Given the description of an element on the screen output the (x, y) to click on. 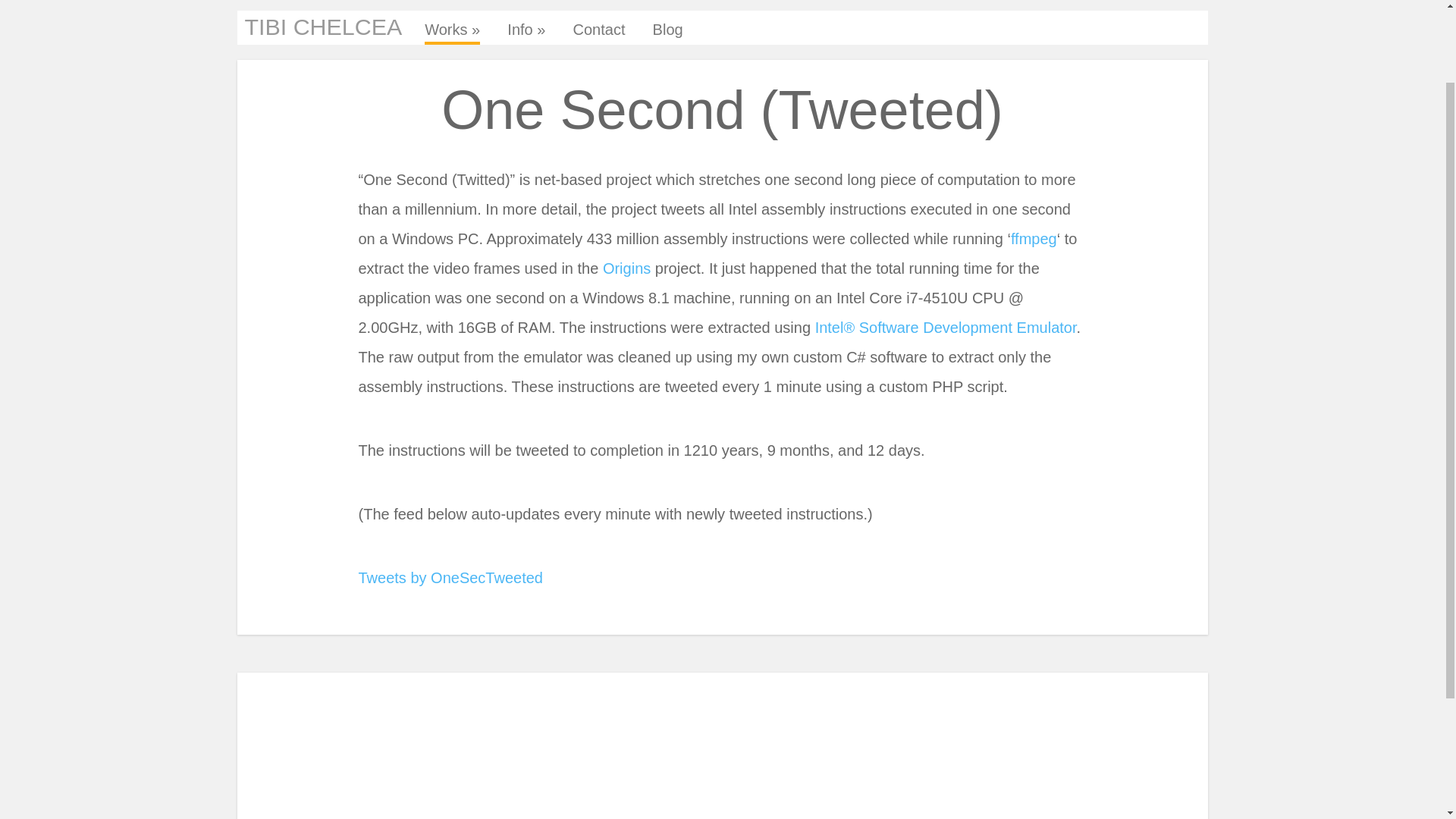
LinkedIn (645, 744)
Follow by Email (611, 744)
Blog (667, 33)
Contact (599, 33)
TIBI CHELCEA (322, 26)
Instagram (680, 744)
